Given the description of an element on the screen output the (x, y) to click on. 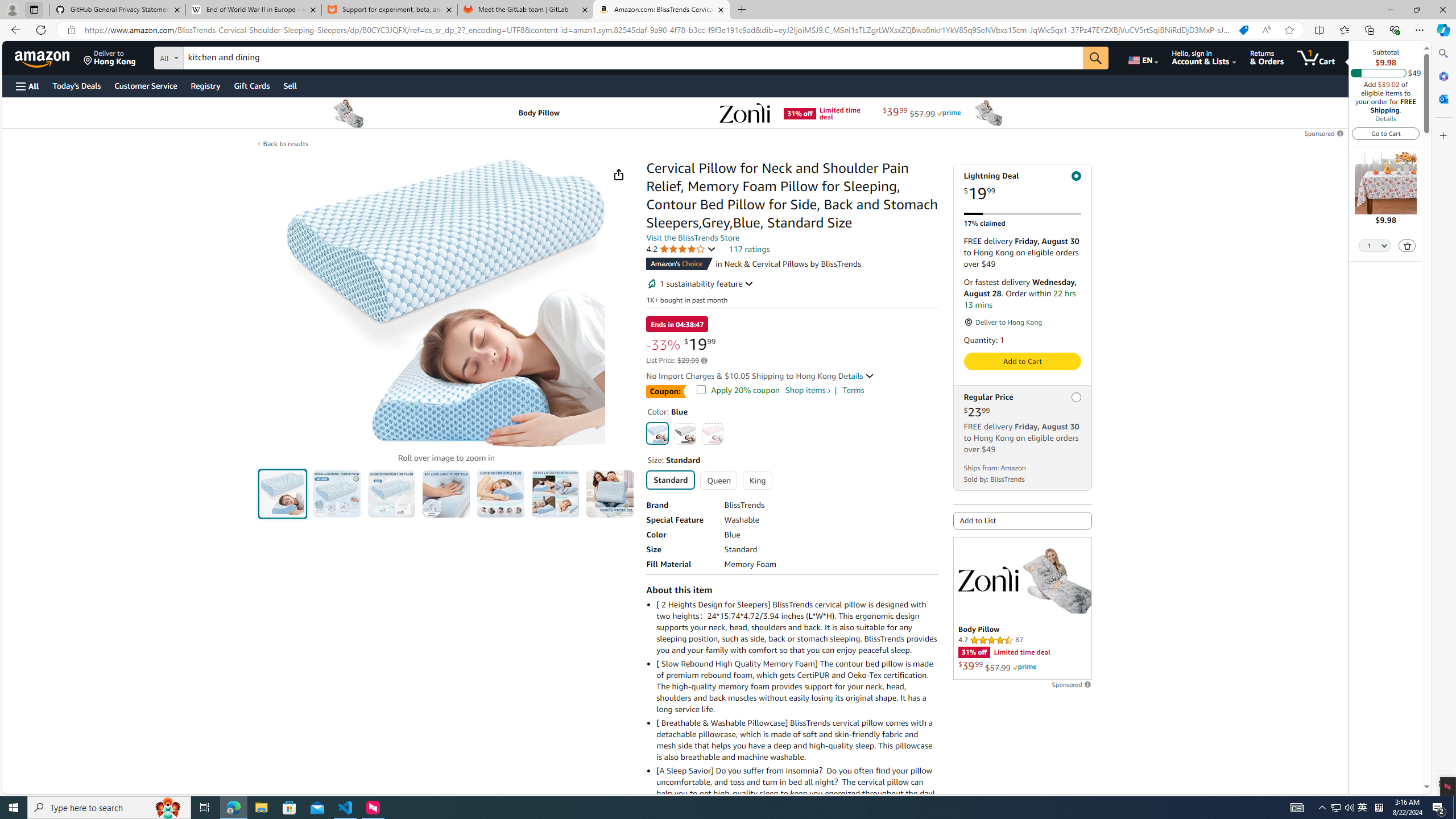
Add to List (1022, 520)
Meet the GitLab team | GitLab (525, 9)
Back to results (285, 143)
1 item in cart (1315, 57)
GitHub General Privacy Statement - GitHub Docs (117, 9)
Lightning Deal $19.99 (1022, 186)
Add to Cart (1021, 360)
End of World War II in Europe - Wikipedia (253, 9)
Go to Cart (1385, 133)
Delete (1407, 245)
